Given the description of an element on the screen output the (x, y) to click on. 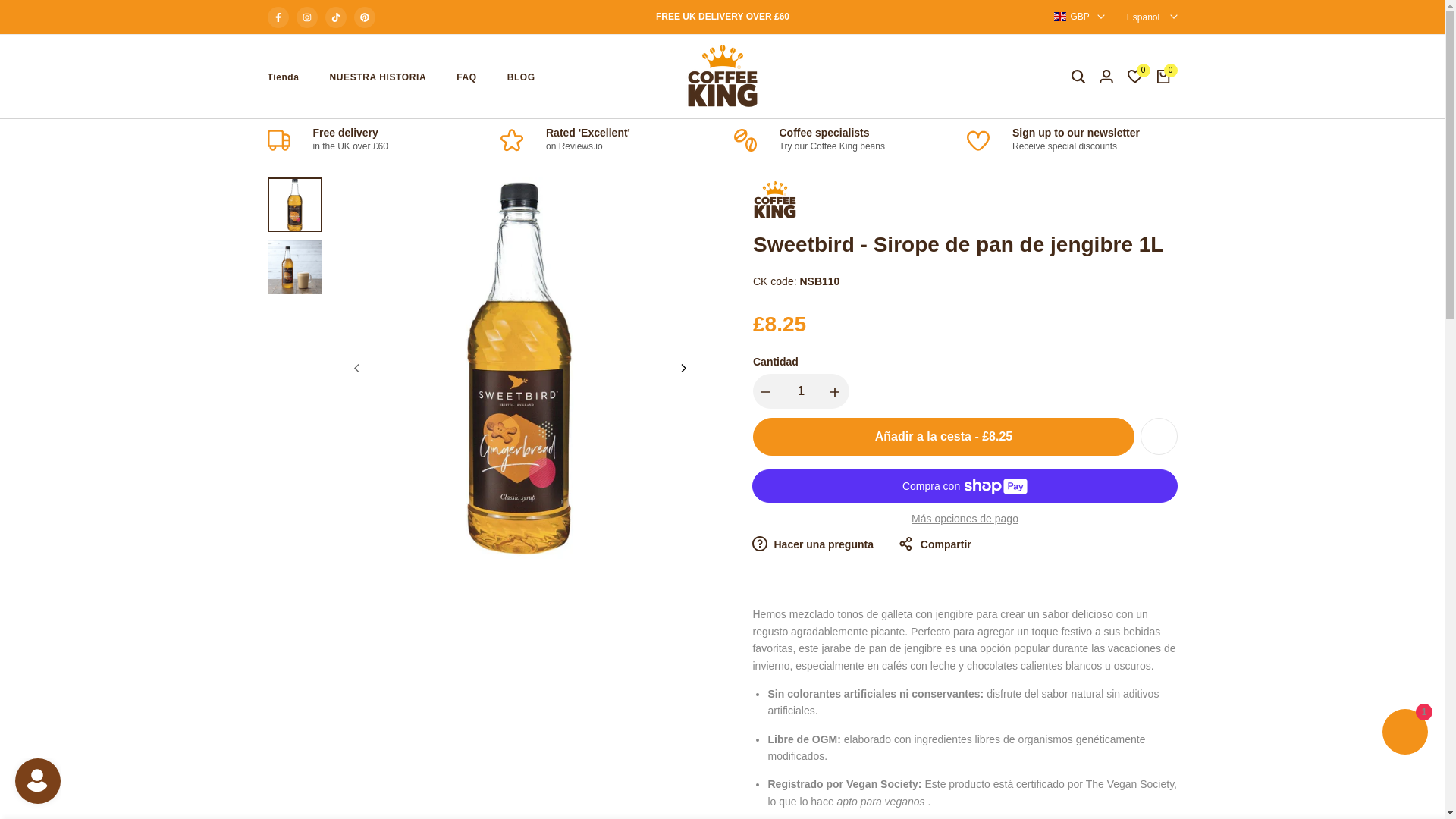
0 (1133, 76)
Mini Account Customer Account Launcher (30, 788)
Chat de la tienda online Shopify (1404, 733)
Pinterest (363, 16)
Instagram (306, 16)
FAQ (466, 77)
Facebook (277, 16)
0 (1163, 76)
BLOG (520, 77)
1 (800, 390)
TikTok (335, 16)
GBP (1078, 16)
NUESTRA HISTORIA (378, 77)
Saltar al contenido (7, 3)
